Given the description of an element on the screen output the (x, y) to click on. 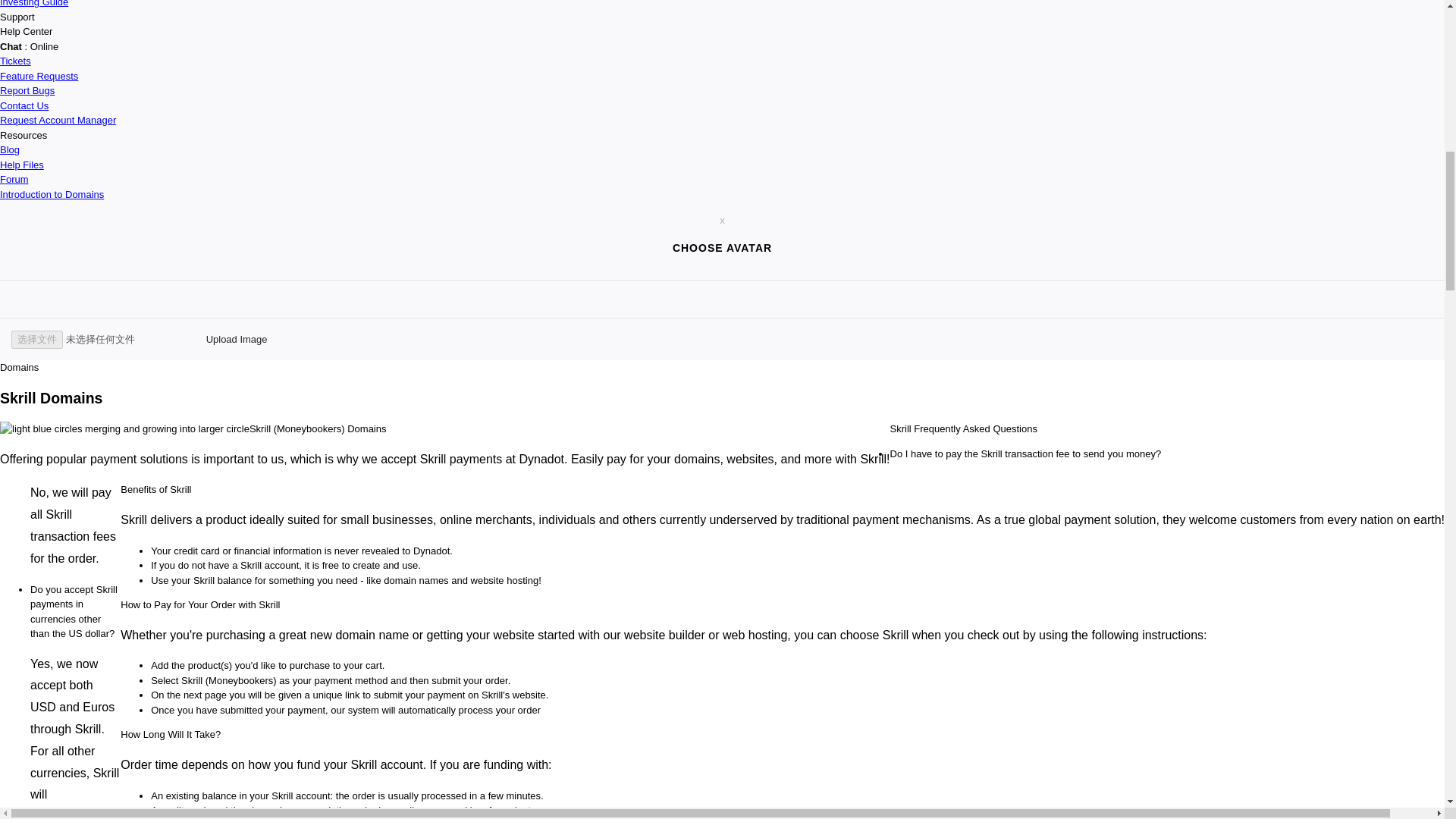
Investing Guide (34, 3)
x (721, 219)
Tickets (15, 60)
Feature Requests (39, 75)
